Given the description of an element on the screen output the (x, y) to click on. 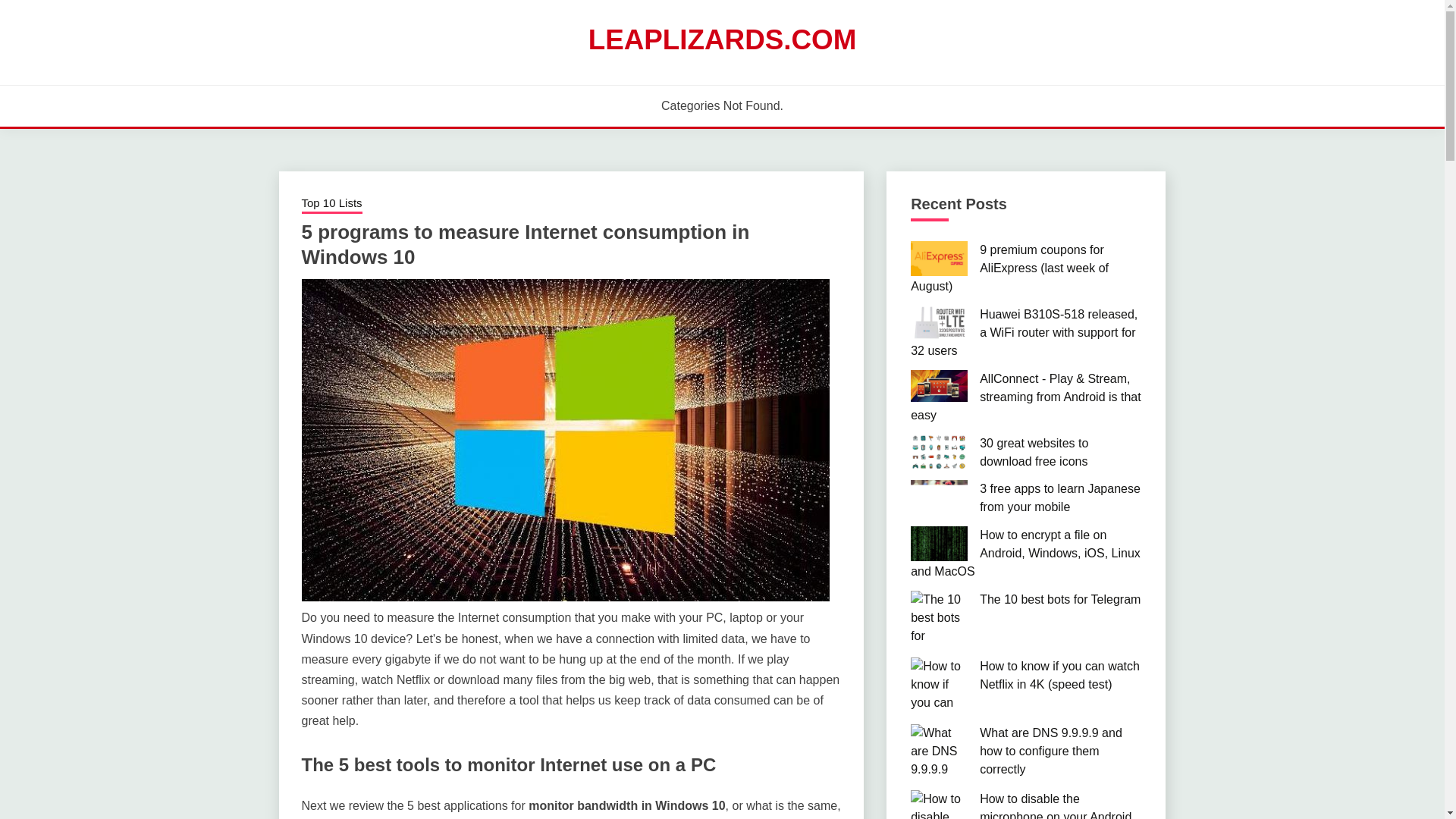
30 great websites to download free icons (1033, 451)
3 free apps to learn Japanese from your mobile (1059, 497)
How to disable the microphone on your Android phone (1055, 805)
The 10 best bots for Telegram (1059, 599)
What are DNS 9.9.9.9 and how to configure them correctly (1050, 750)
LEAPLIZARDS.COM (722, 39)
Top 10 Lists (331, 204)
